Given the description of an element on the screen output the (x, y) to click on. 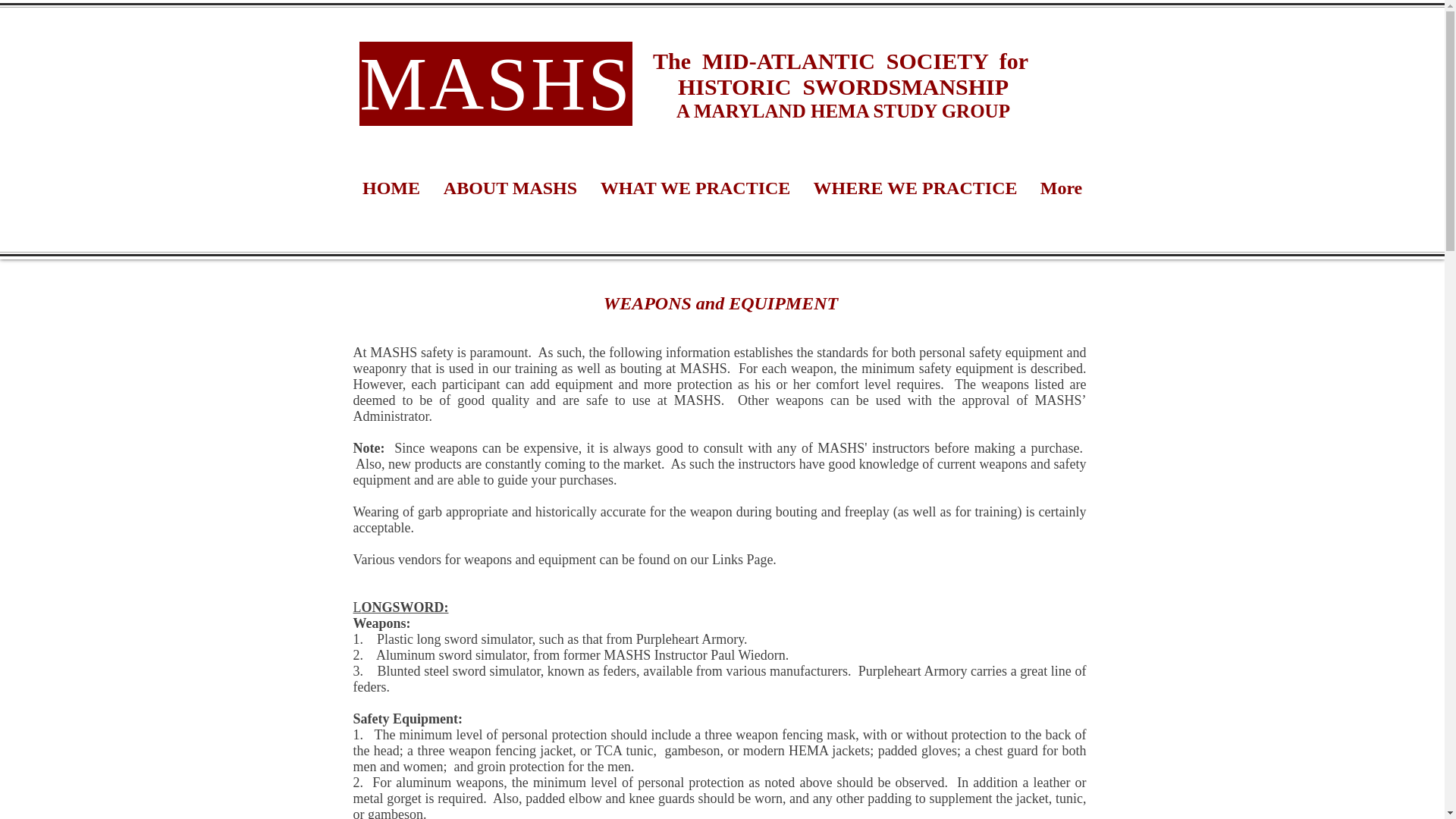
MASHS (495, 83)
WHERE WE PRACTICE (915, 188)
WHAT WE PRACTICE (695, 188)
HOME (390, 188)
ABOUT MASHS (510, 188)
